Given the description of an element on the screen output the (x, y) to click on. 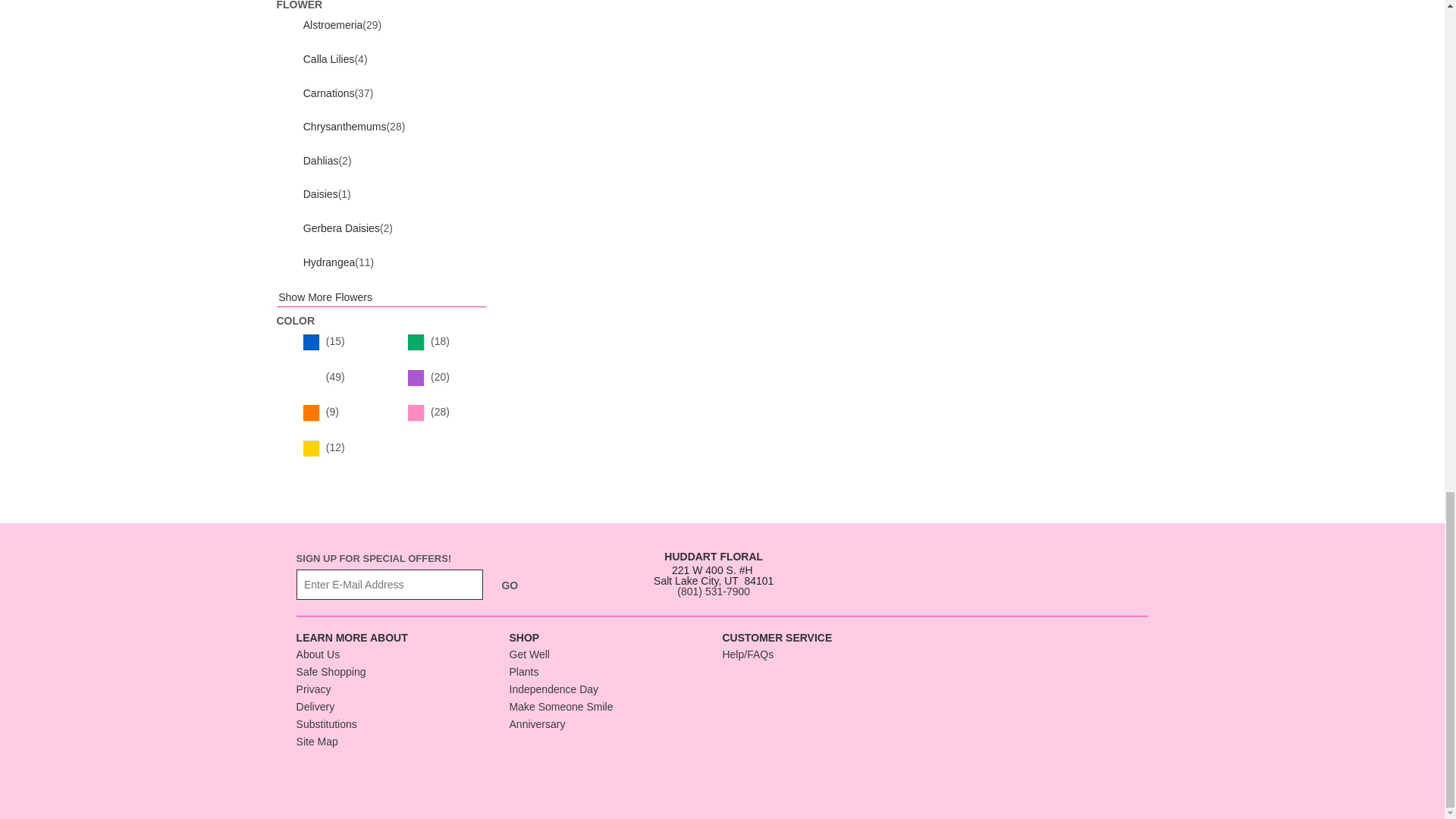
Email Sign up (390, 584)
Go (509, 584)
go (509, 584)
